Given the description of an element on the screen output the (x, y) to click on. 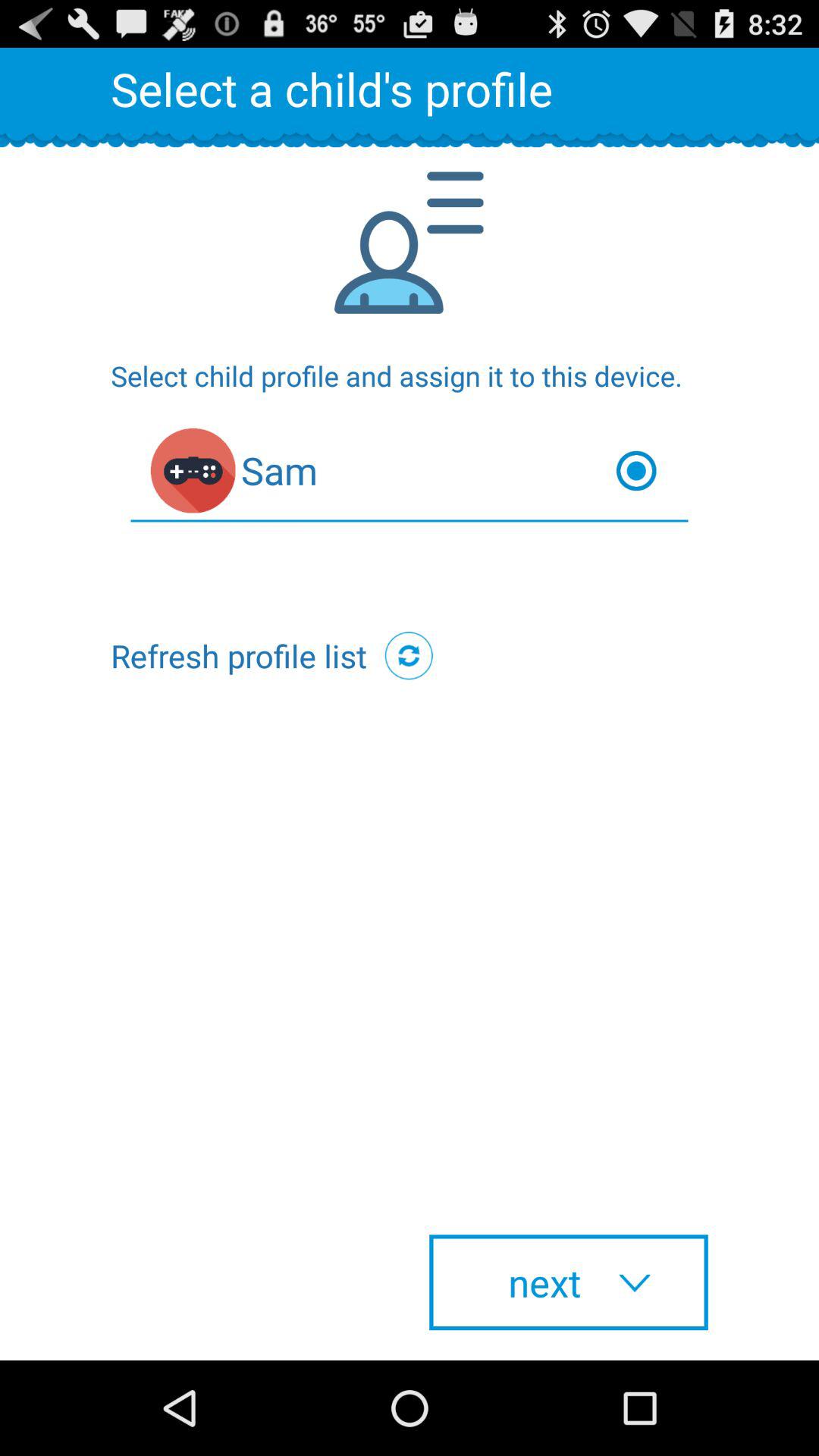
press the icon next to the refresh profile list item (408, 655)
